Given the description of an element on the screen output the (x, y) to click on. 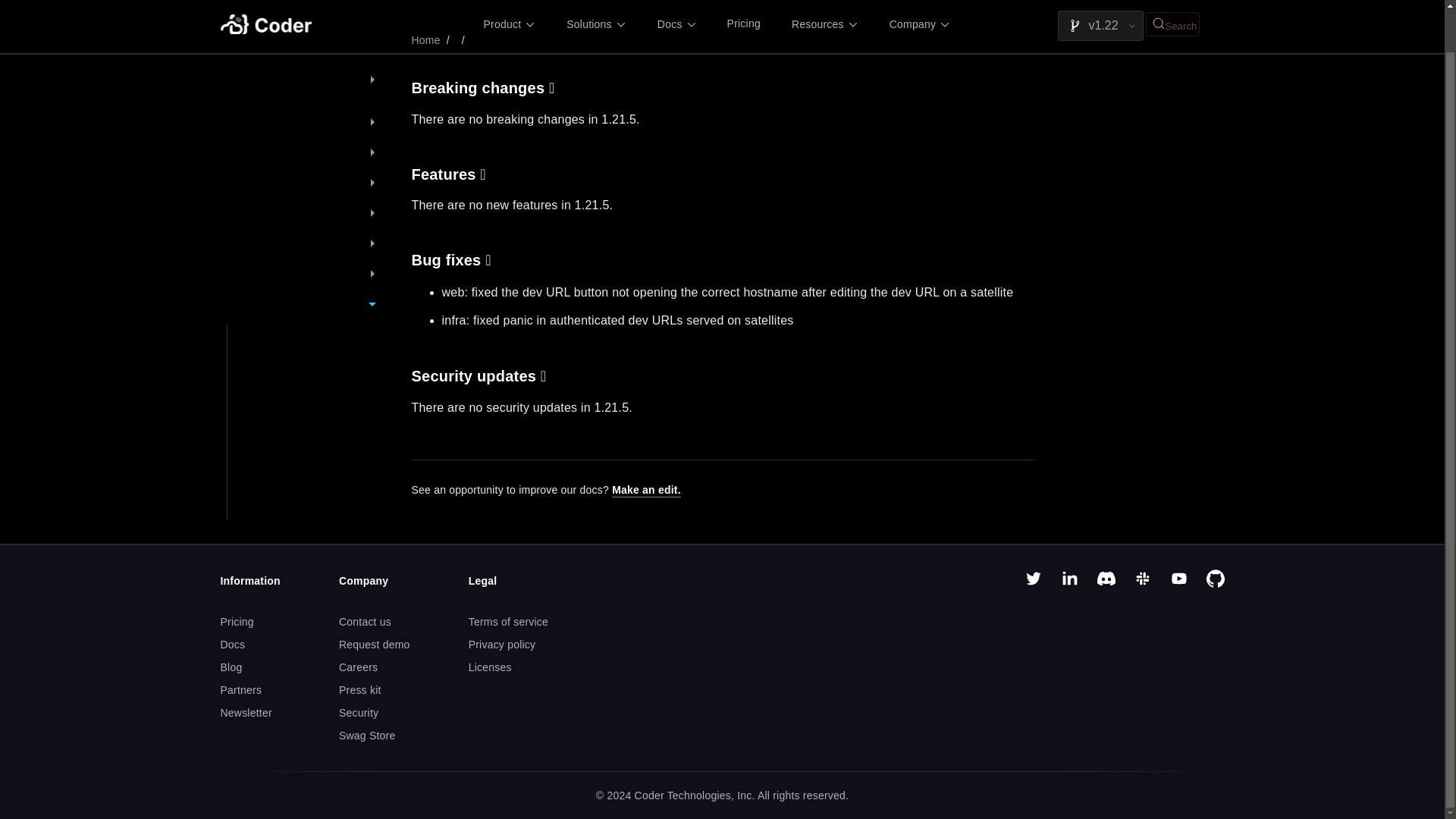
Slack (1141, 583)
Discord (1105, 583)
Home (424, 40)
